Given the description of an element on the screen output the (x, y) to click on. 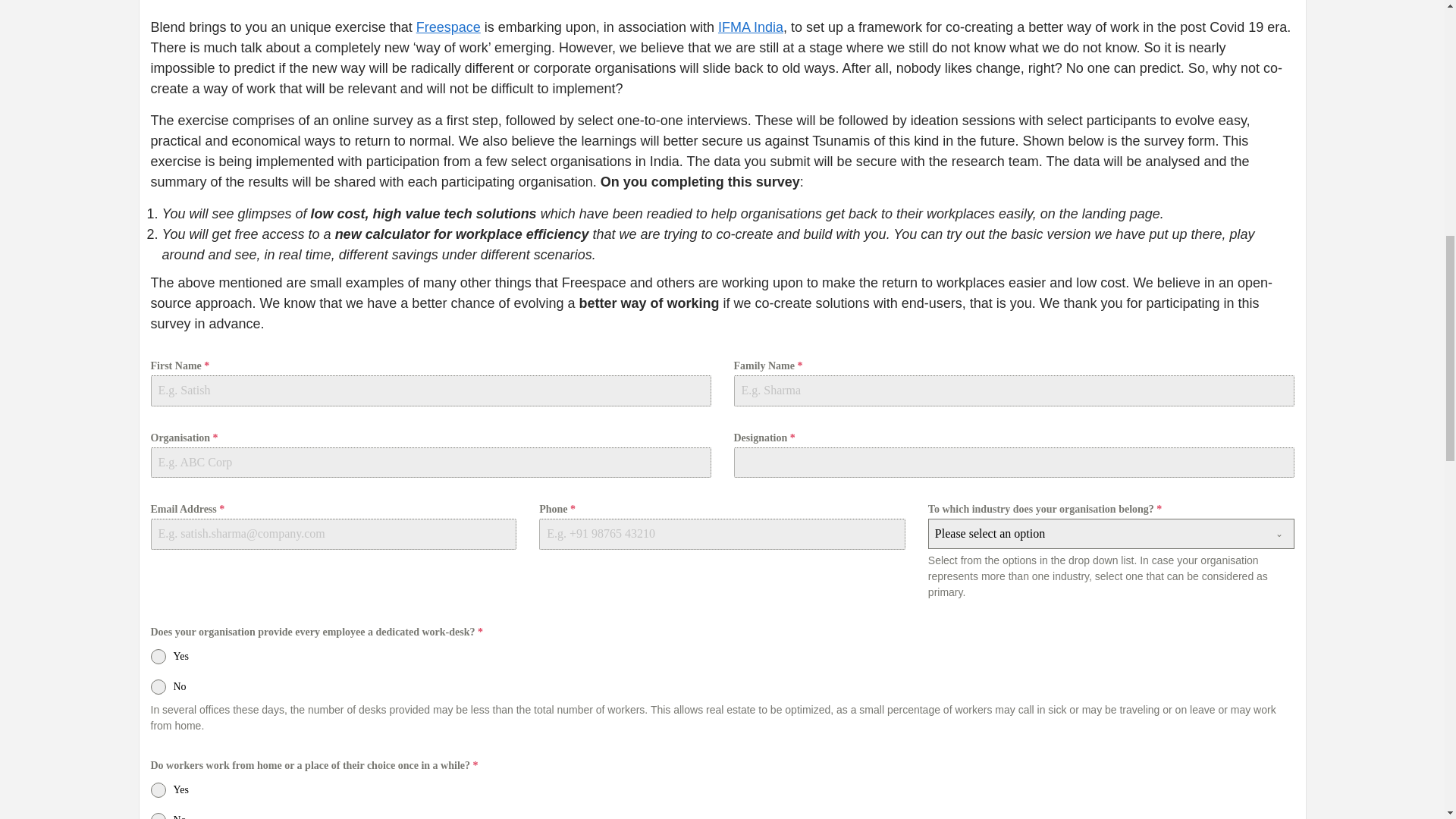
IFMA India (750, 27)
No (721, 686)
Freespace (448, 27)
Please select an option (1096, 533)
Yes (721, 656)
